Given the description of an element on the screen output the (x, y) to click on. 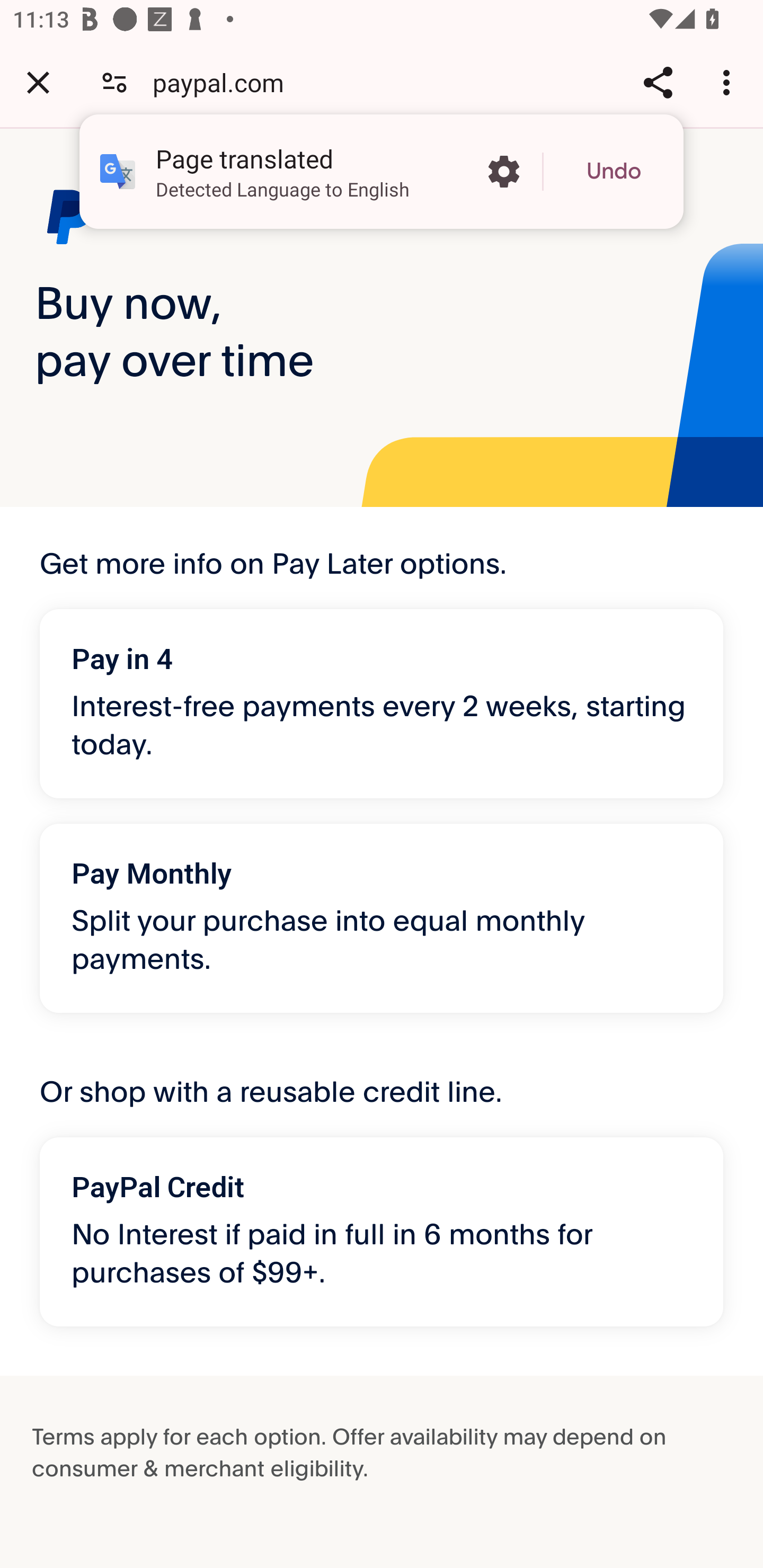
Close tab (38, 82)
Share (657, 82)
Customize and control Google Chrome (729, 82)
Connection is secure (114, 81)
paypal.com (224, 81)
Undo (613, 171)
More options in the Page translated (503, 171)
